Given the description of an element on the screen output the (x, y) to click on. 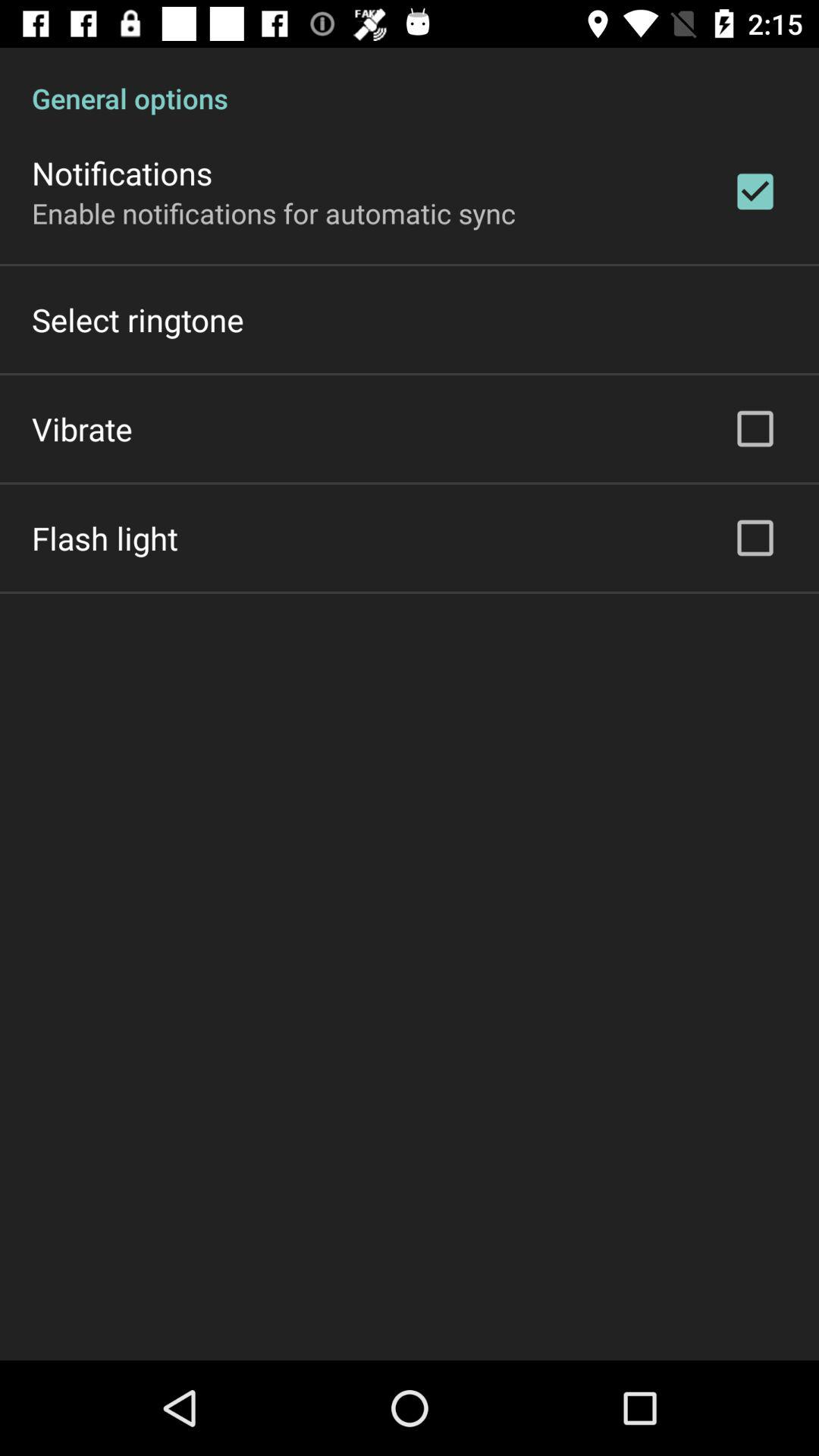
choose item below the vibrate item (104, 537)
